Given the description of an element on the screen output the (x, y) to click on. 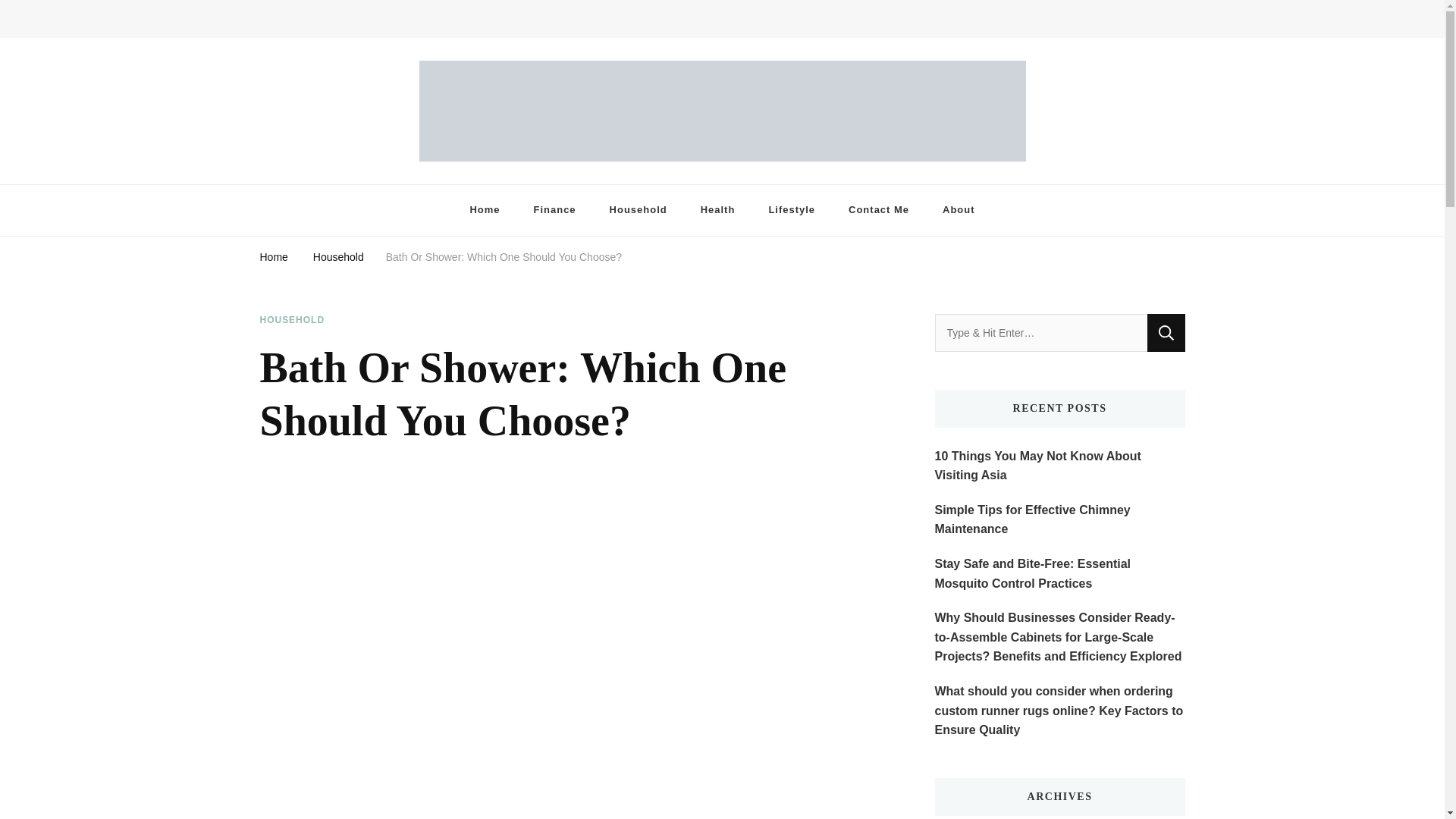
Finding Farina (332, 176)
Home (272, 256)
HOUSEHOLD (291, 320)
Home (484, 210)
Lifestyle (791, 210)
Contact Me (878, 210)
Search (1166, 332)
Household (638, 210)
Bath Or Shower: Which One Should You Choose? (503, 256)
Household (338, 256)
